Given the description of an element on the screen output the (x, y) to click on. 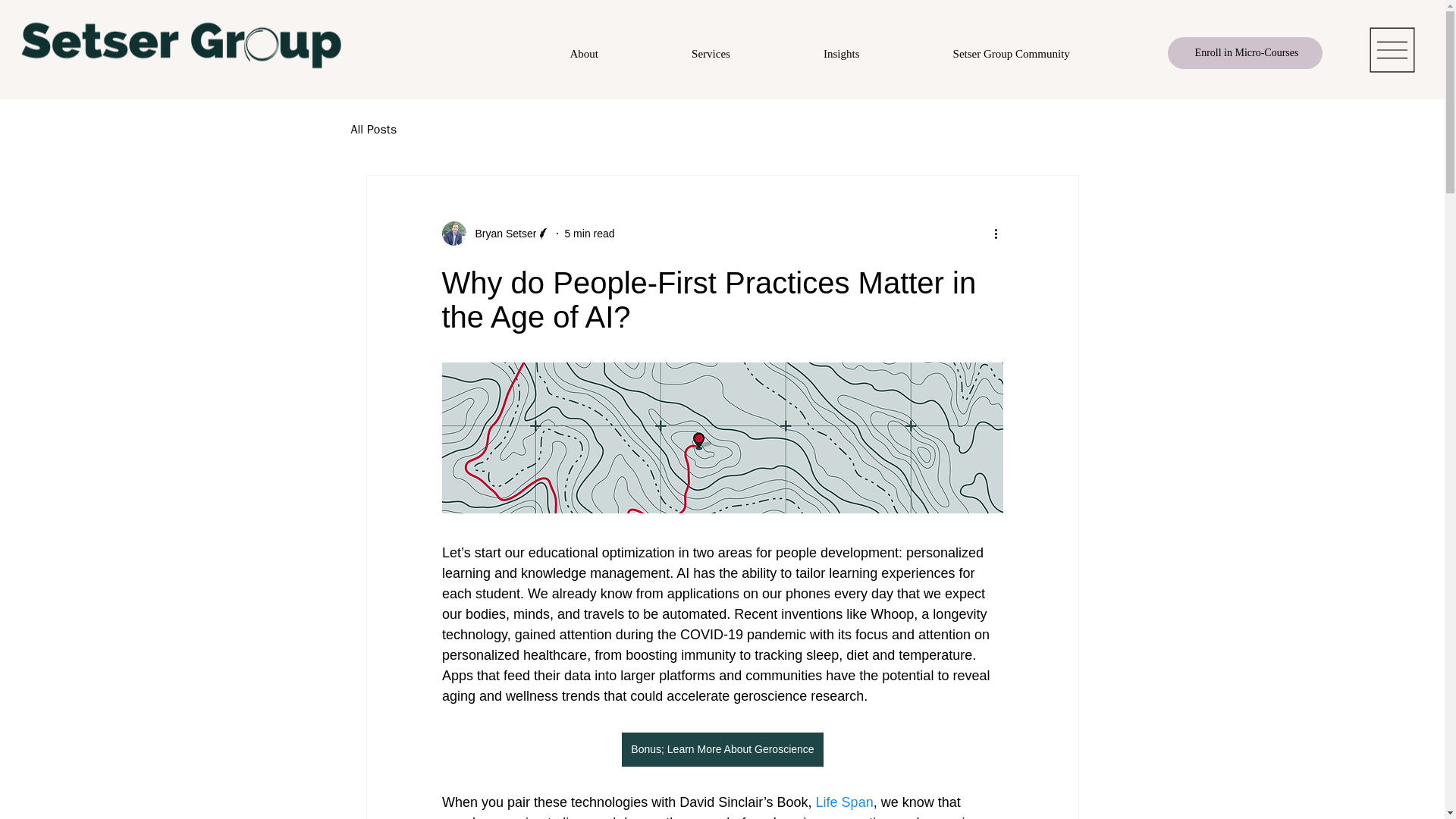
All Posts (373, 130)
Insights (841, 53)
Bryan Setser (495, 233)
Services (711, 53)
5 min read (589, 233)
Bonus; Learn More About Geroscience (721, 749)
Bryan Setser (500, 233)
Enroll in Micro-Courses (1244, 52)
Life Span (843, 801)
Setser Group Community (1011, 53)
